Given the description of an element on the screen output the (x, y) to click on. 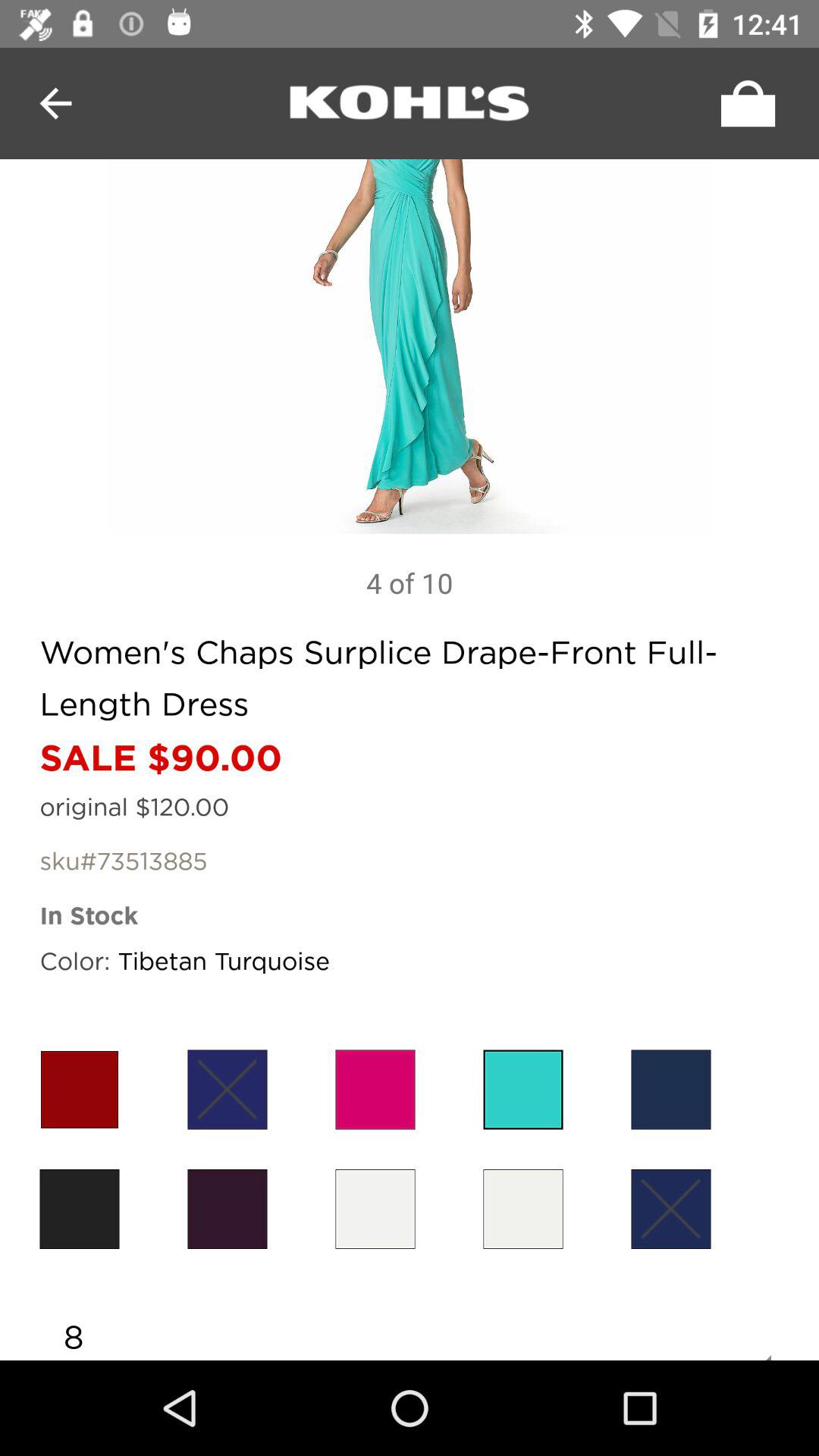
select yellow dress color (375, 1208)
